Given the description of an element on the screen output the (x, y) to click on. 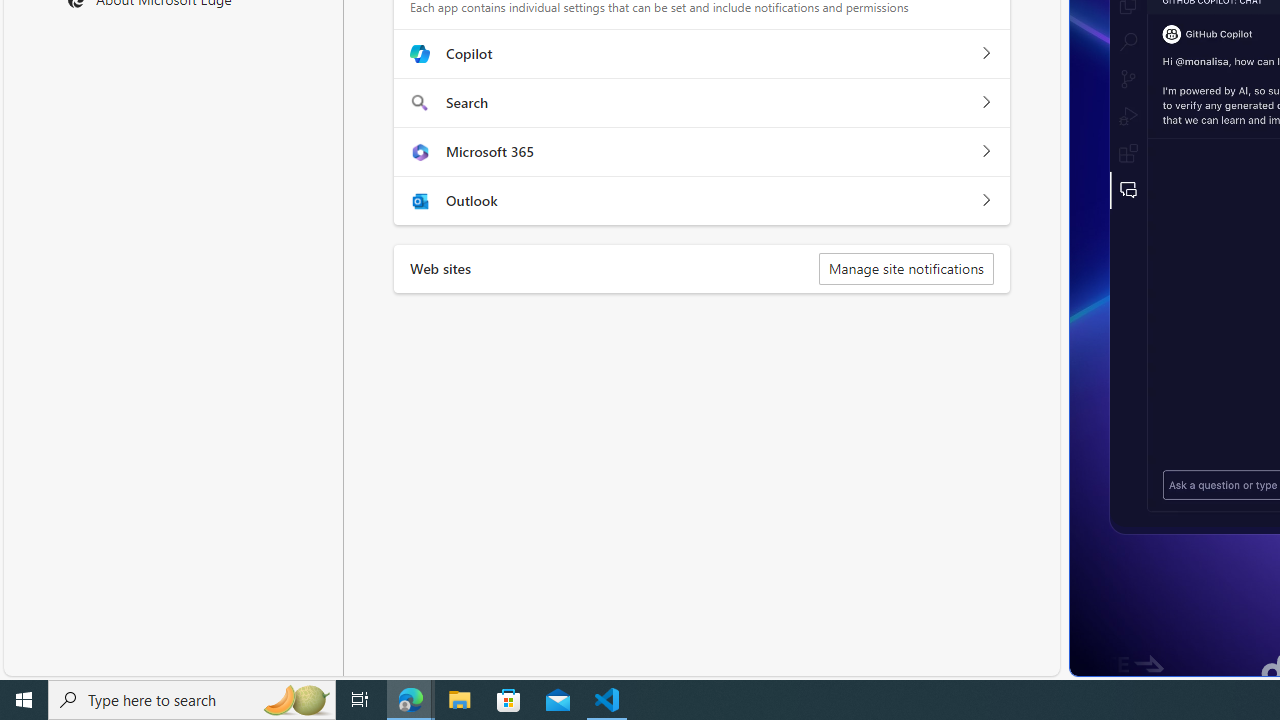
Copilot (985, 54)
Coca Cola's logo (1172, 673)
Manage site notifications (905, 268)
